Given the description of an element on the screen output the (x, y) to click on. 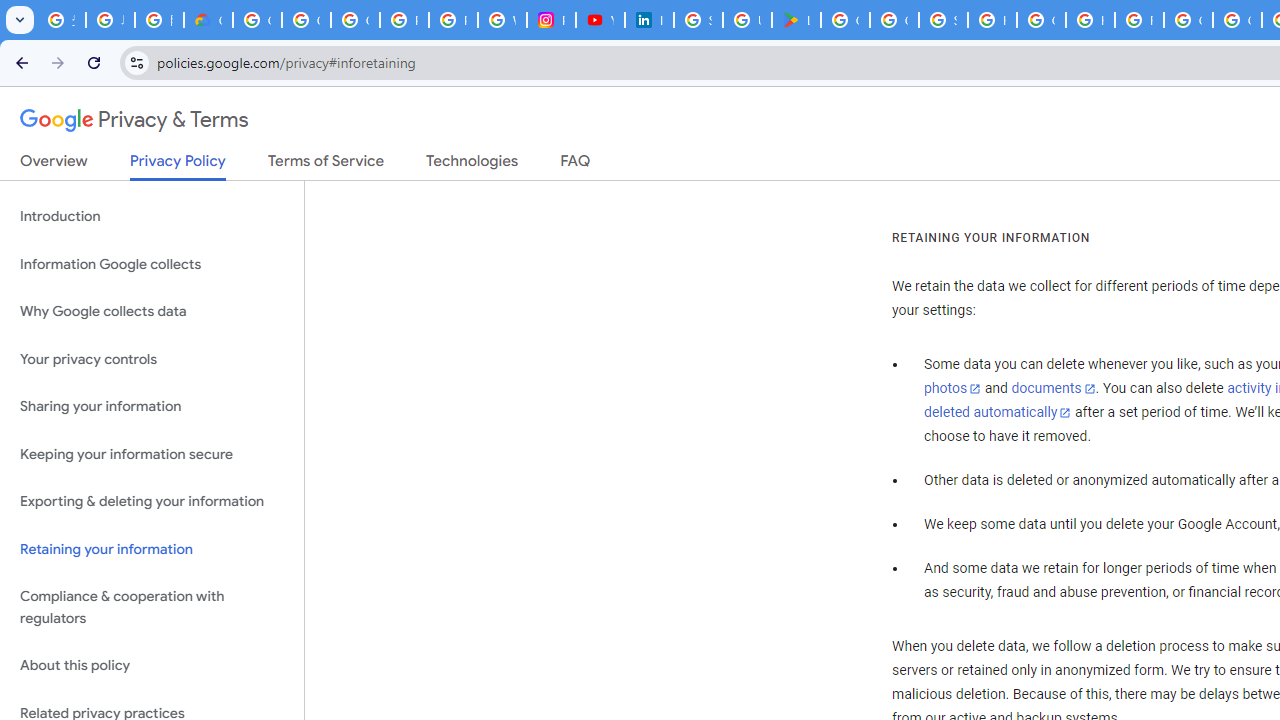
Google Workspace - Specific Terms (894, 20)
About this policy (152, 666)
Information Google collects (152, 263)
Privacy Help Center - Policies Help (452, 20)
YouTube Culture & Trends - On The Rise: Handcam Videos (600, 20)
Privacy & Terms (134, 120)
Privacy Policy (177, 166)
Exporting & deleting your information (152, 502)
Introduction (152, 216)
Sign in - Google Accounts (943, 20)
